Given the description of an element on the screen output the (x, y) to click on. 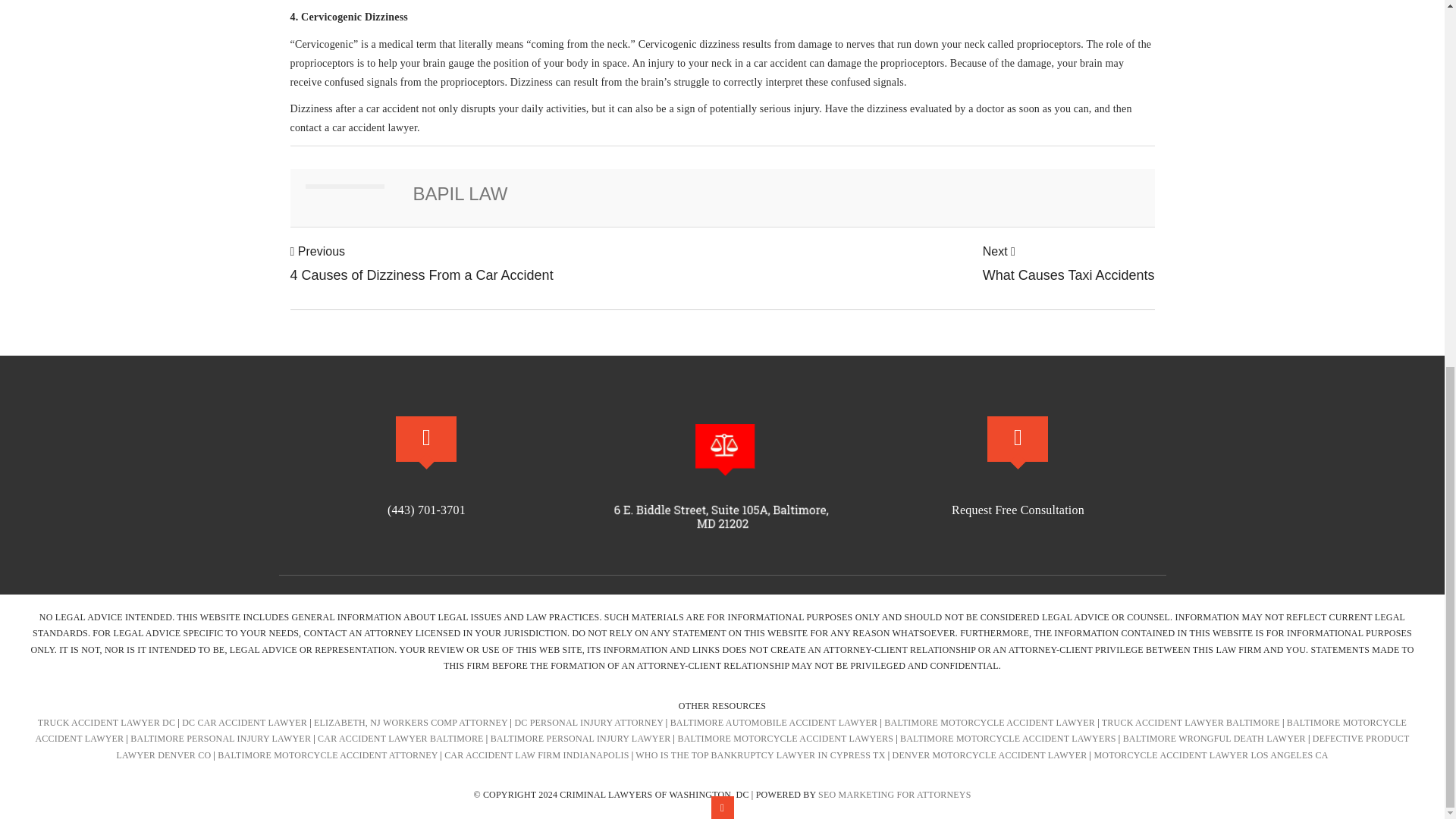
BAPIL LAW (459, 193)
Posts by Bapil Law (421, 263)
